Given the description of an element on the screen output the (x, y) to click on. 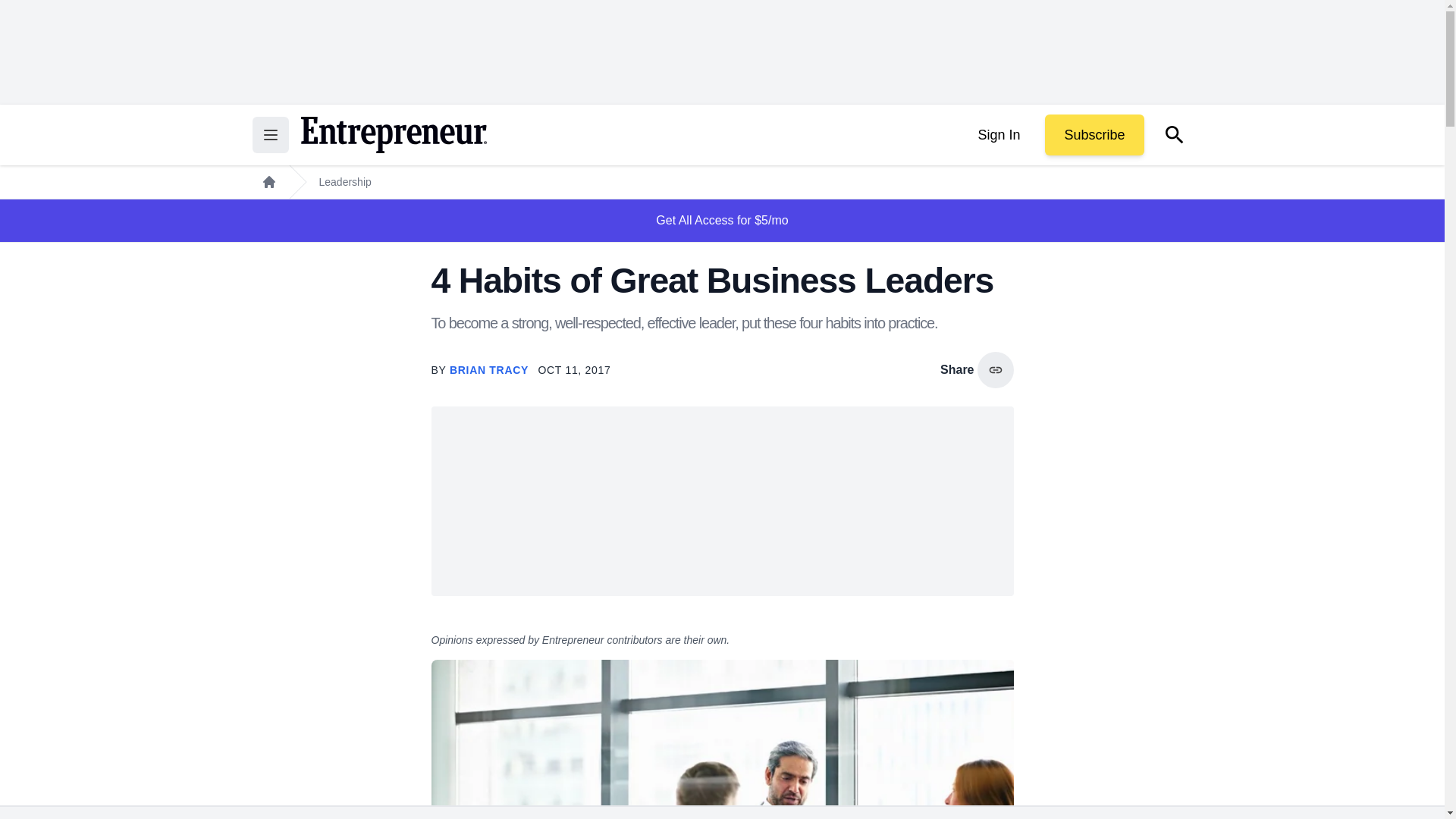
Subscribe (1093, 134)
Return to the home page (392, 135)
Sign In (998, 134)
copy (994, 370)
